Given the description of an element on the screen output the (x, y) to click on. 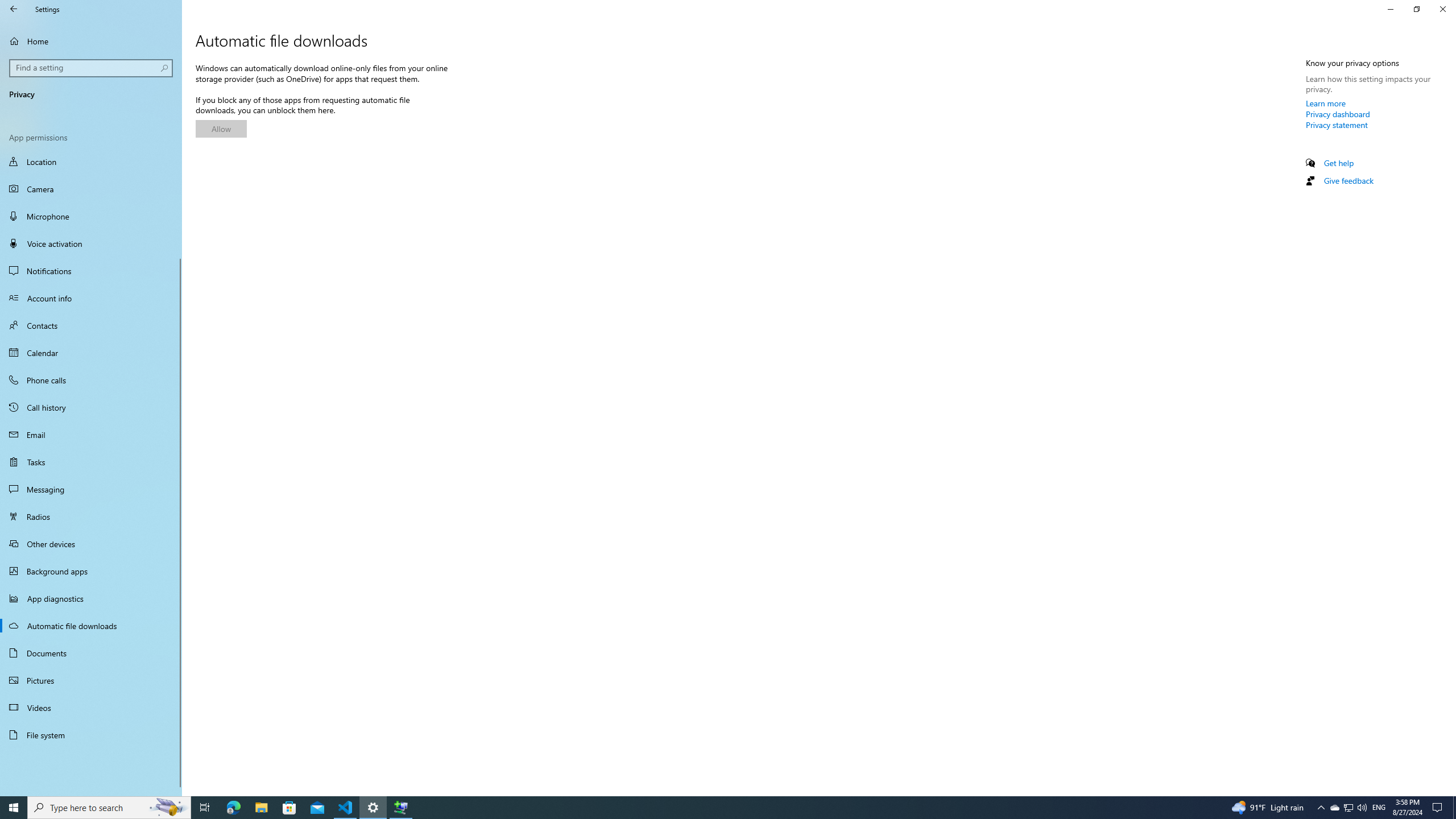
Radios (91, 515)
Location (91, 162)
Other devices (91, 543)
Tasks (91, 461)
Background apps (91, 570)
Pictures (91, 679)
Extensible Wizards Host Process - 1 running window (400, 807)
Email (91, 433)
